Given the description of an element on the screen output the (x, y) to click on. 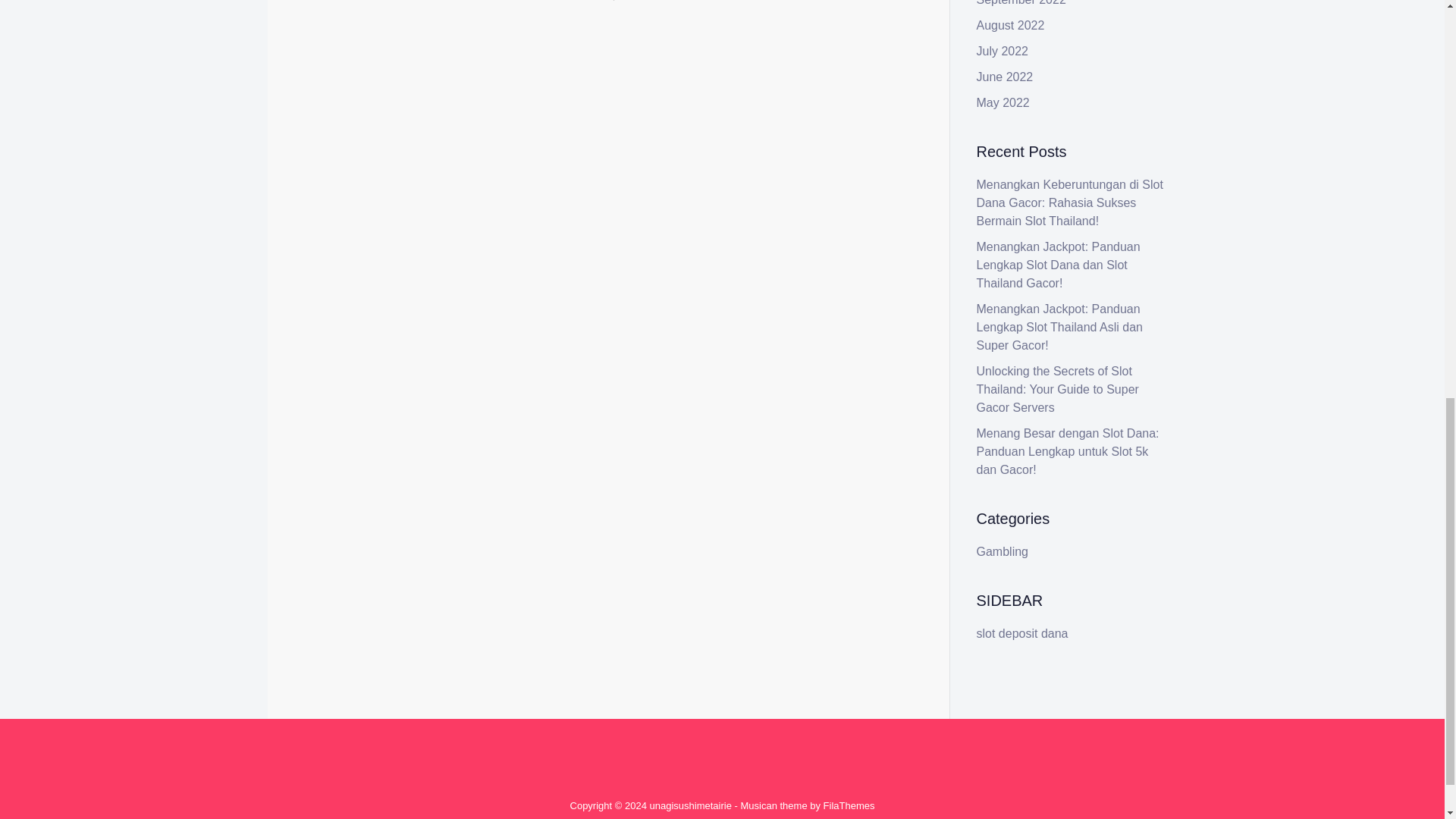
August 2022 (1010, 24)
June 2022 (1004, 76)
unagisushimetairie (689, 805)
Gambling (376, 186)
September 2022 (1020, 2)
July 2022 (1002, 51)
May 2022 (1002, 102)
